Given the description of an element on the screen output the (x, y) to click on. 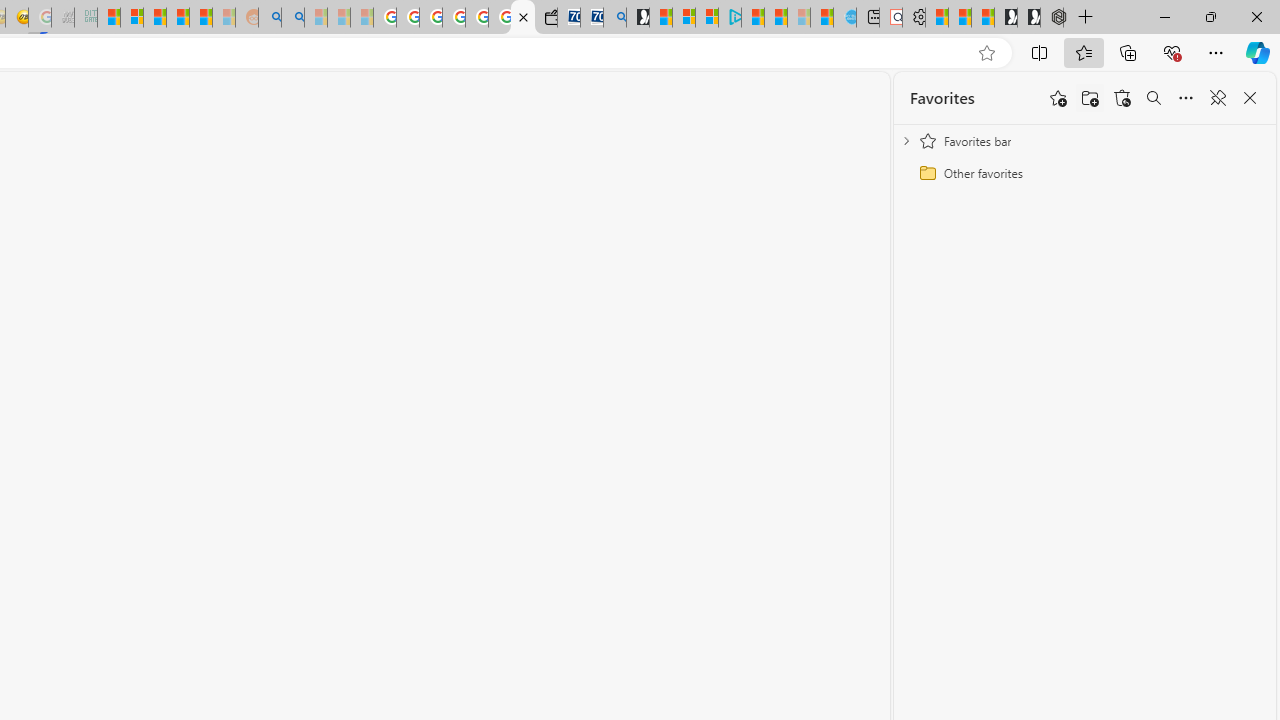
Bing Real Estate - Home sales and rental listings (614, 17)
Student Loan Update: Forgiveness Program Ends This Month (200, 17)
DITOGAMES AG Imprint - Sleeping (86, 17)
